Given the description of an element on the screen output the (x, y) to click on. 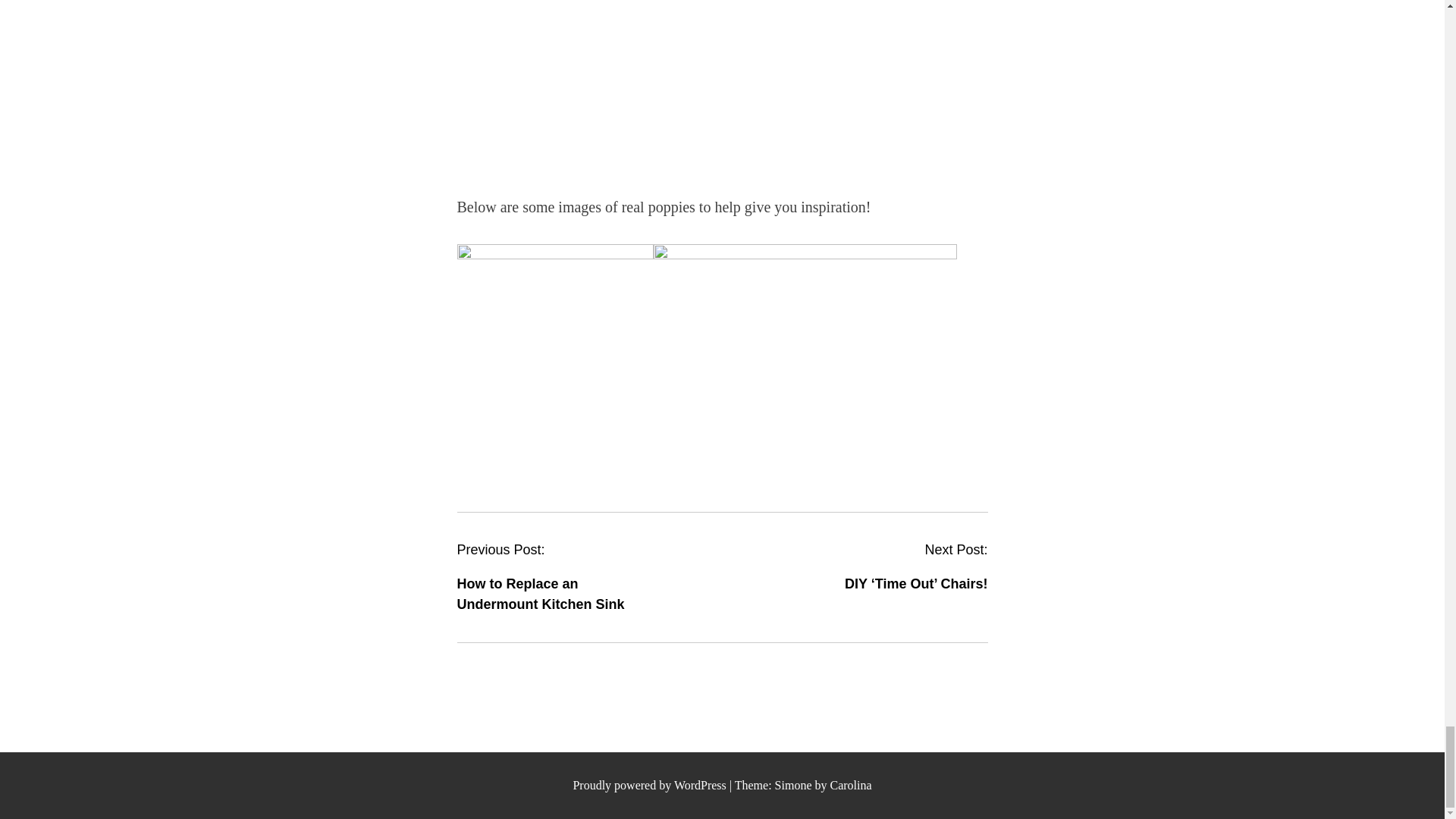
Carolina (849, 784)
WordPress (700, 784)
How to Replace an Undermount Kitchen Sink (540, 593)
